Given the description of an element on the screen output the (x, y) to click on. 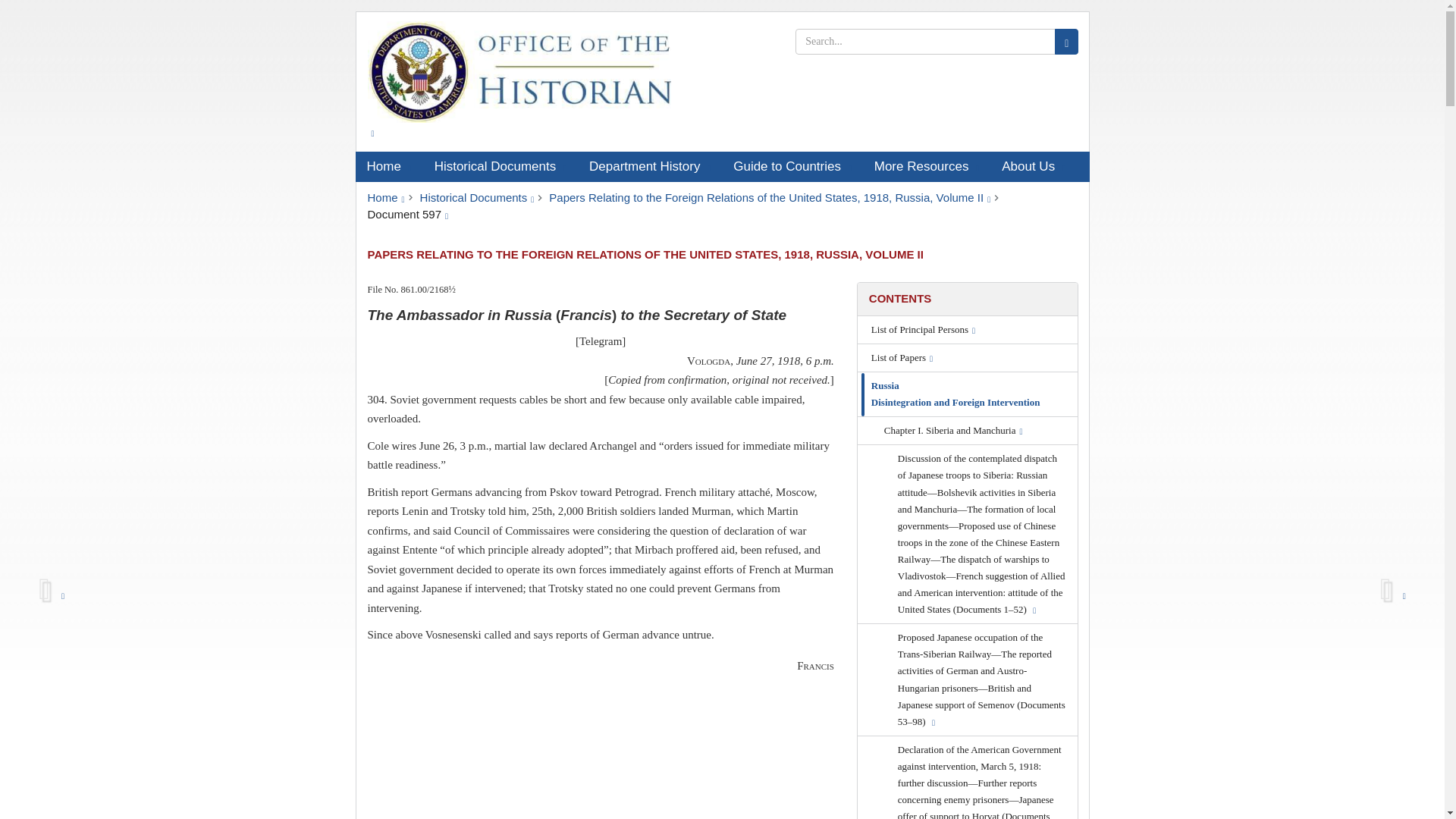
Home (385, 196)
More Resources (926, 166)
Department History (650, 166)
Home (388, 166)
Historical Documents (477, 196)
Historical Documents (500, 166)
Guide to Countries (792, 166)
Document 597 (407, 214)
About Us (1033, 166)
